Given the description of an element on the screen output the (x, y) to click on. 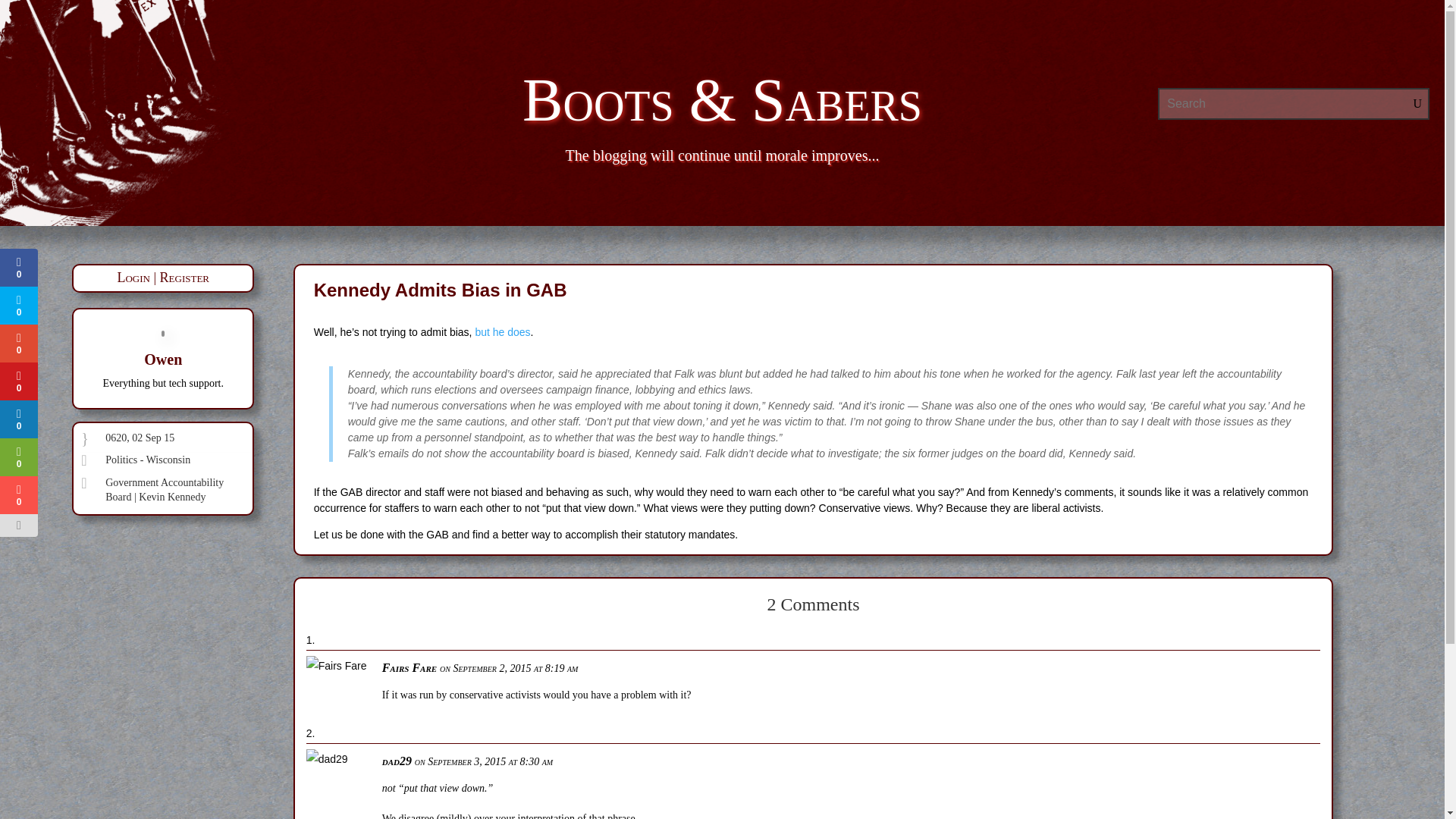
0 (18, 267)
0 (18, 305)
Politics - Wisconsin (147, 460)
0 (18, 456)
Register (184, 277)
dad29 (396, 761)
0 (18, 343)
Kevin Kennedy (171, 496)
0 (18, 419)
Login (132, 277)
but he does (501, 331)
0 (18, 494)
aggie-boots-96-clear (150, 113)
Government Accountability Board (164, 489)
0 (18, 381)
